Given the description of an element on the screen output the (x, y) to click on. 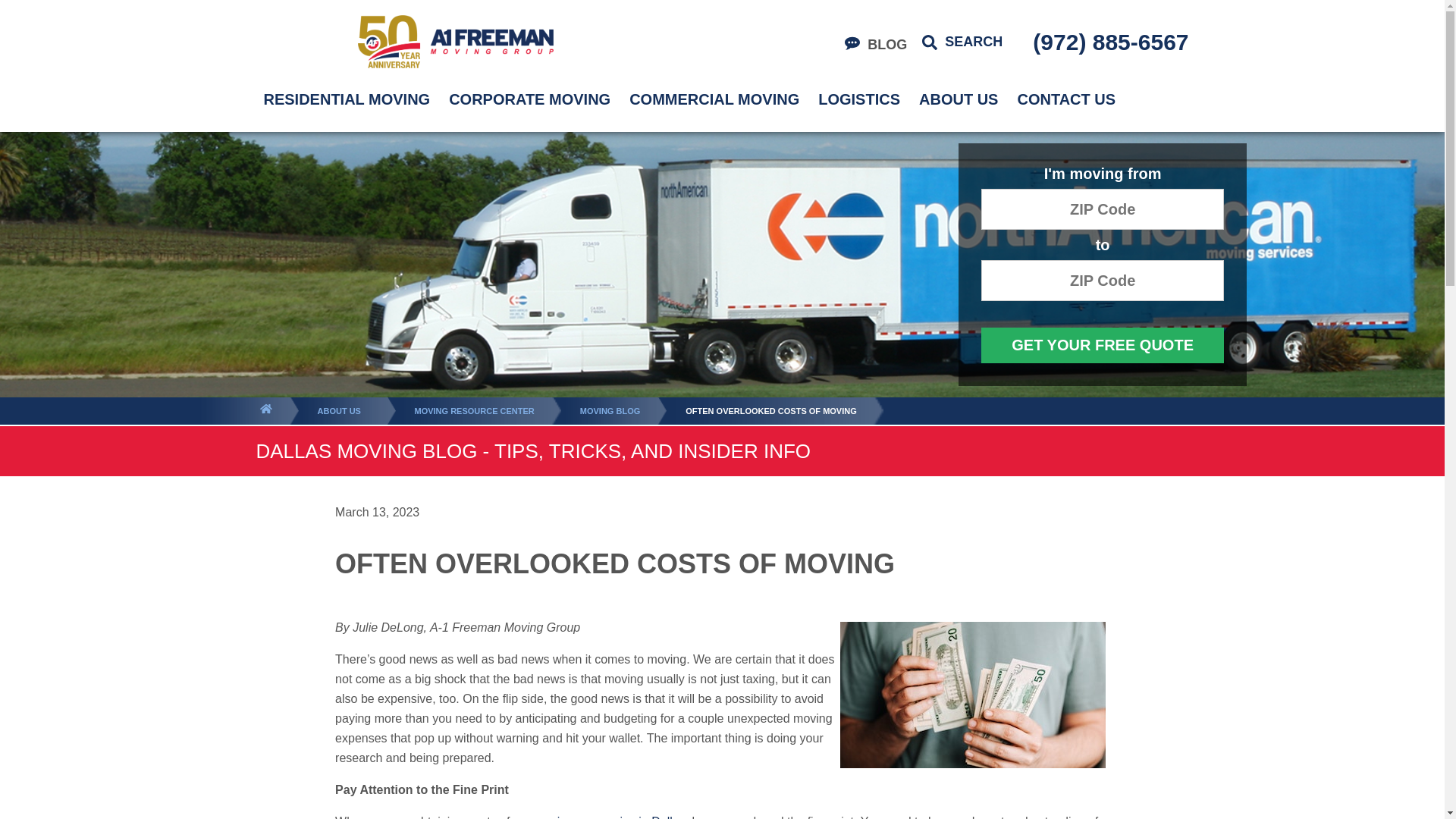
BLOG (875, 44)
A-1 Freeman Moving Group Home (455, 41)
Residential Movers (609, 816)
CORPORATE MOVING (529, 99)
Open Search (962, 42)
RESIDENTIAL MOVING (347, 99)
SEARCH (962, 42)
